Given the description of an element on the screen output the (x, y) to click on. 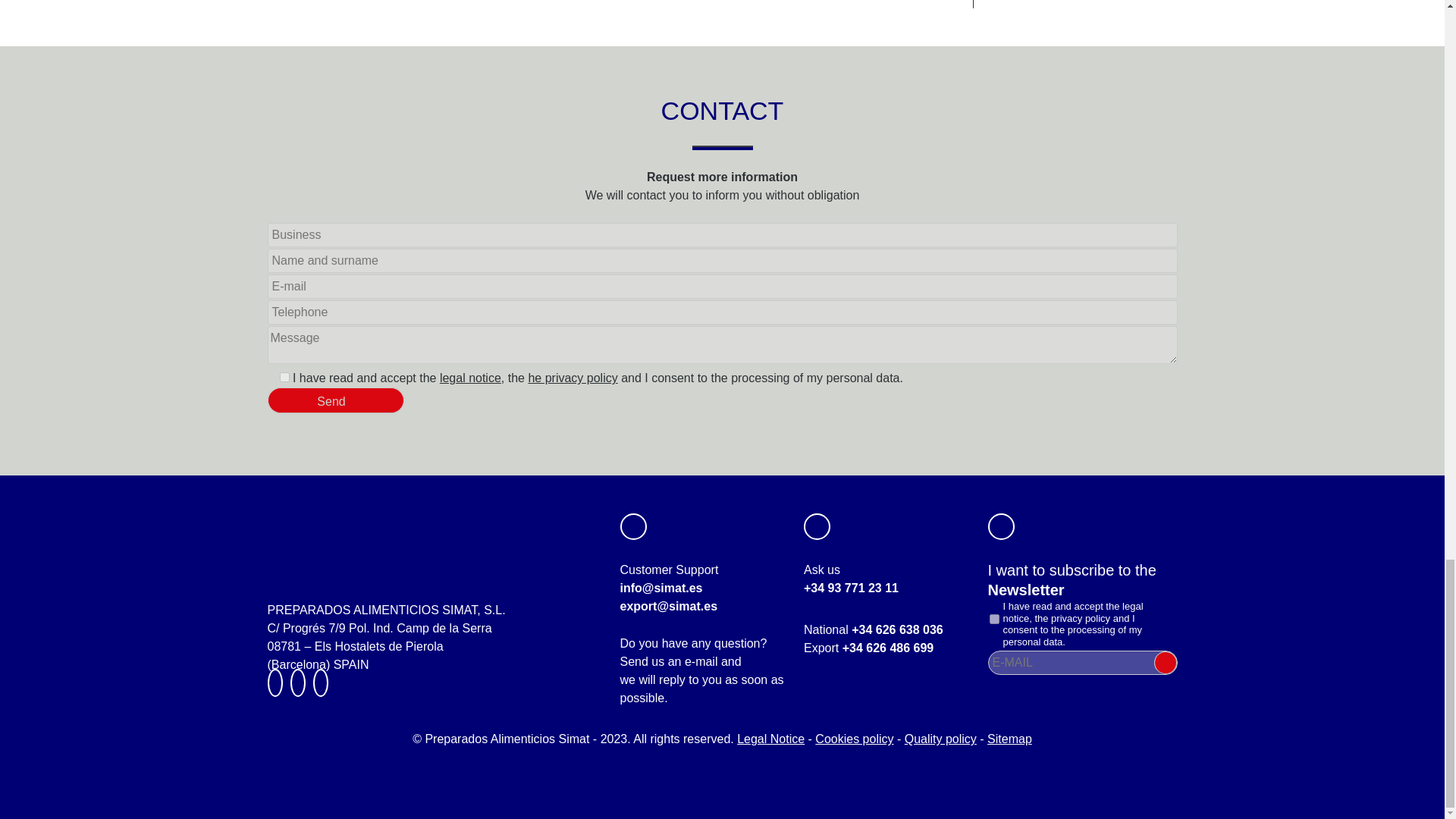
1 (283, 377)
Send (334, 400)
Y (993, 619)
